Given the description of an element on the screen output the (x, y) to click on. 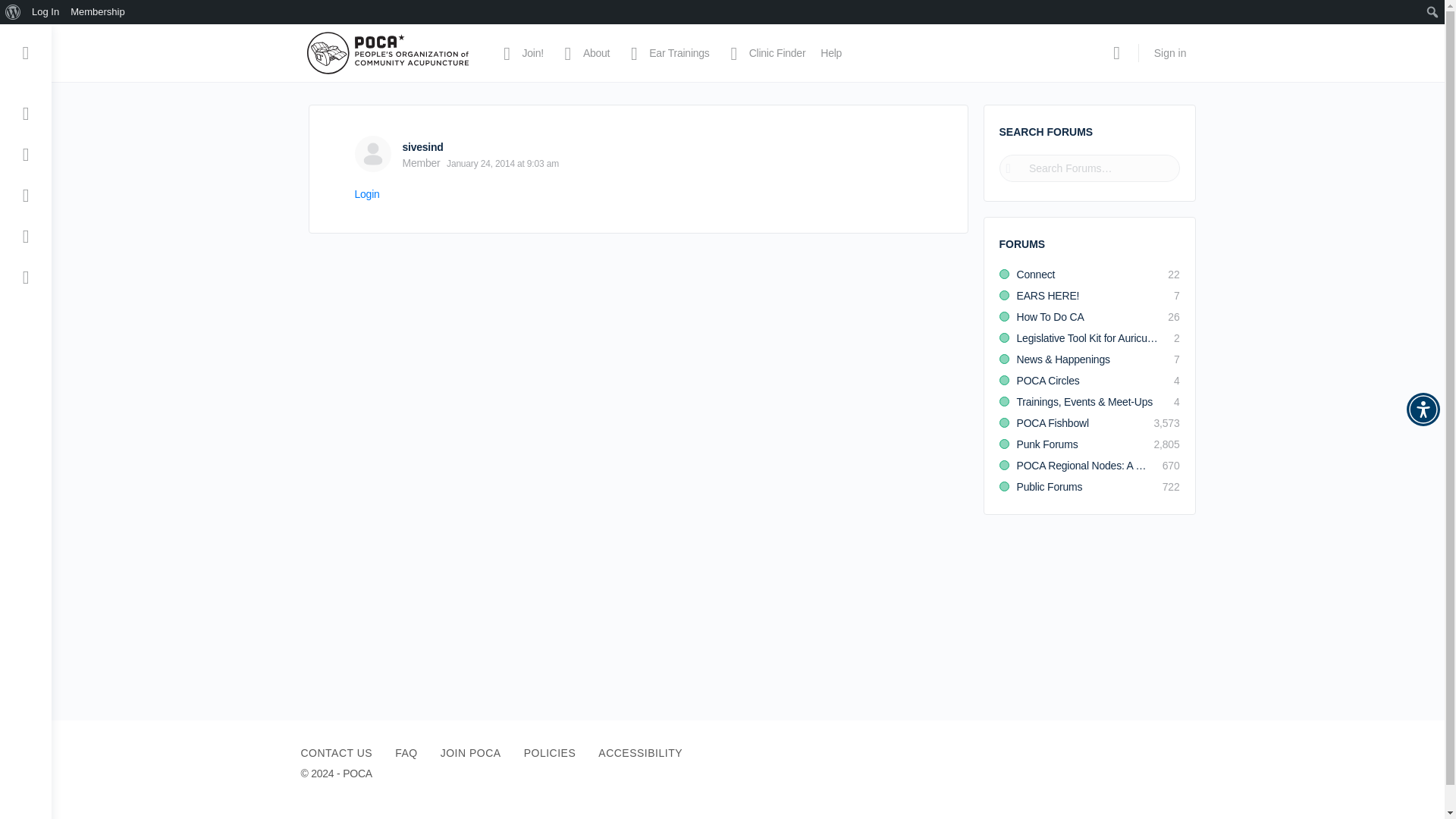
Membership (98, 12)
Clinic Finder (765, 52)
View sivesind's profile (373, 153)
Search (16, 12)
Ear Trainings (666, 52)
Accessibility Menu (1422, 409)
View sivesind's profile (421, 146)
Log In (45, 12)
Sign in (1169, 53)
